Given the description of an element on the screen output the (x, y) to click on. 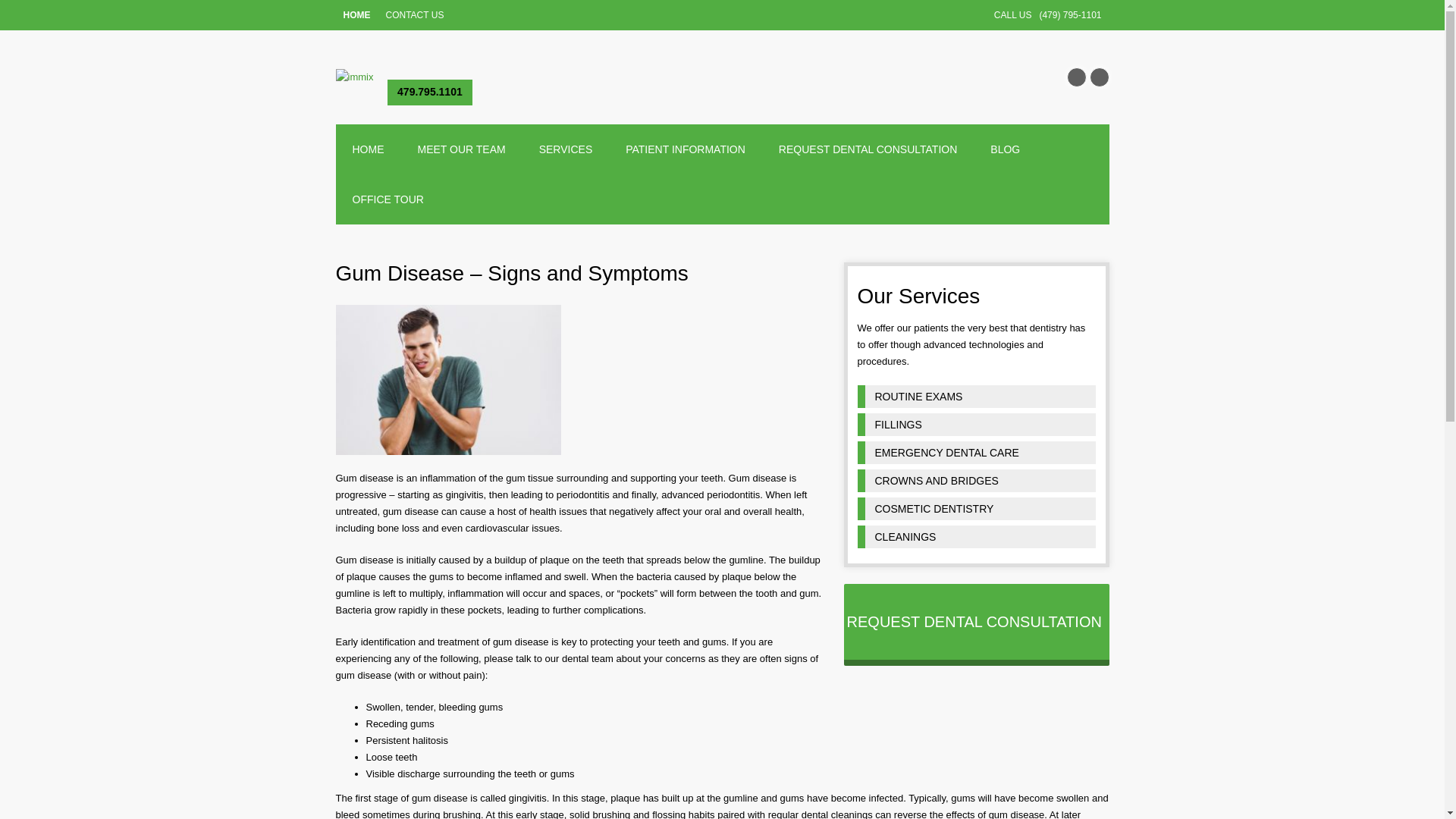
Services (566, 149)
Blog (1005, 149)
479.795.1101 (429, 92)
CLEANINGS (975, 536)
HOME (355, 14)
Home (367, 149)
SERVICES (566, 149)
Patient Information (684, 149)
OFFICE TOUR (386, 199)
MEET OUR TEAM (460, 149)
